Given the description of an element on the screen output the (x, y) to click on. 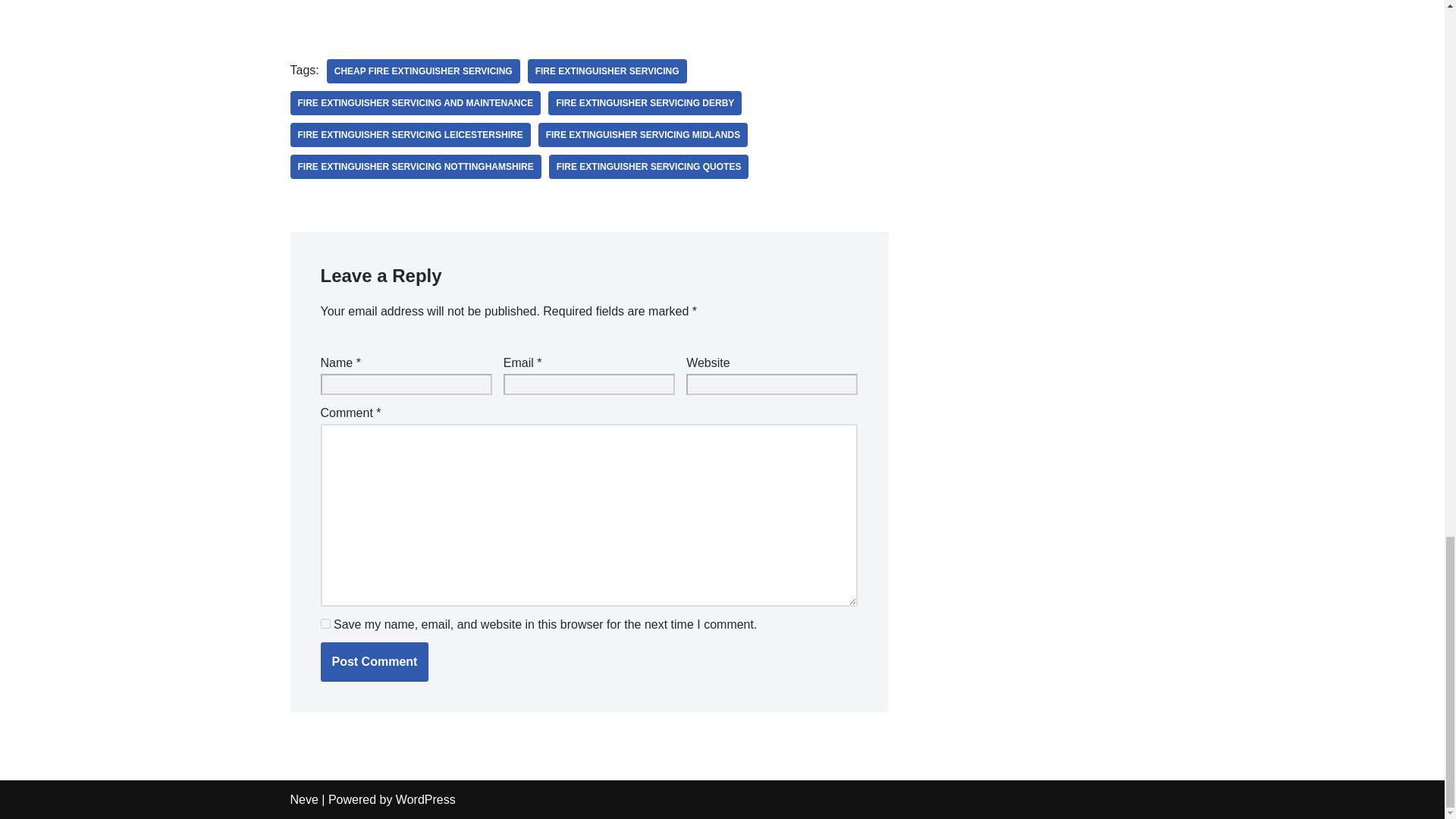
FIRE EXTINGUISHER SERVICING MIDLANDS (643, 134)
Post Comment (374, 661)
FIRE EXTINGUISHER SERVICING DERBY (644, 102)
FIRE EXTINGUISHER SERVICING NOTTINGHAMSHIRE (414, 166)
Fire Extinguisher Servicing Nottinghamshire (414, 166)
Fire Extinguisher Servicing midlands (643, 134)
Fire Extinguisher Servicing and Maintenance (414, 102)
FIRE EXTINGUISHER SERVICING QUOTES (648, 166)
FIRE EXTINGUISHER SERVICING AND MAINTENANCE (414, 102)
yes (325, 623)
cheap Fire Extinguisher Servicing (422, 70)
Post Comment (374, 661)
FIRE EXTINGUISHER SERVICING (607, 70)
Fire Extinguisher Servicing Derby (644, 102)
Fire Extinguisher Servicing (607, 70)
